Given the description of an element on the screen output the (x, y) to click on. 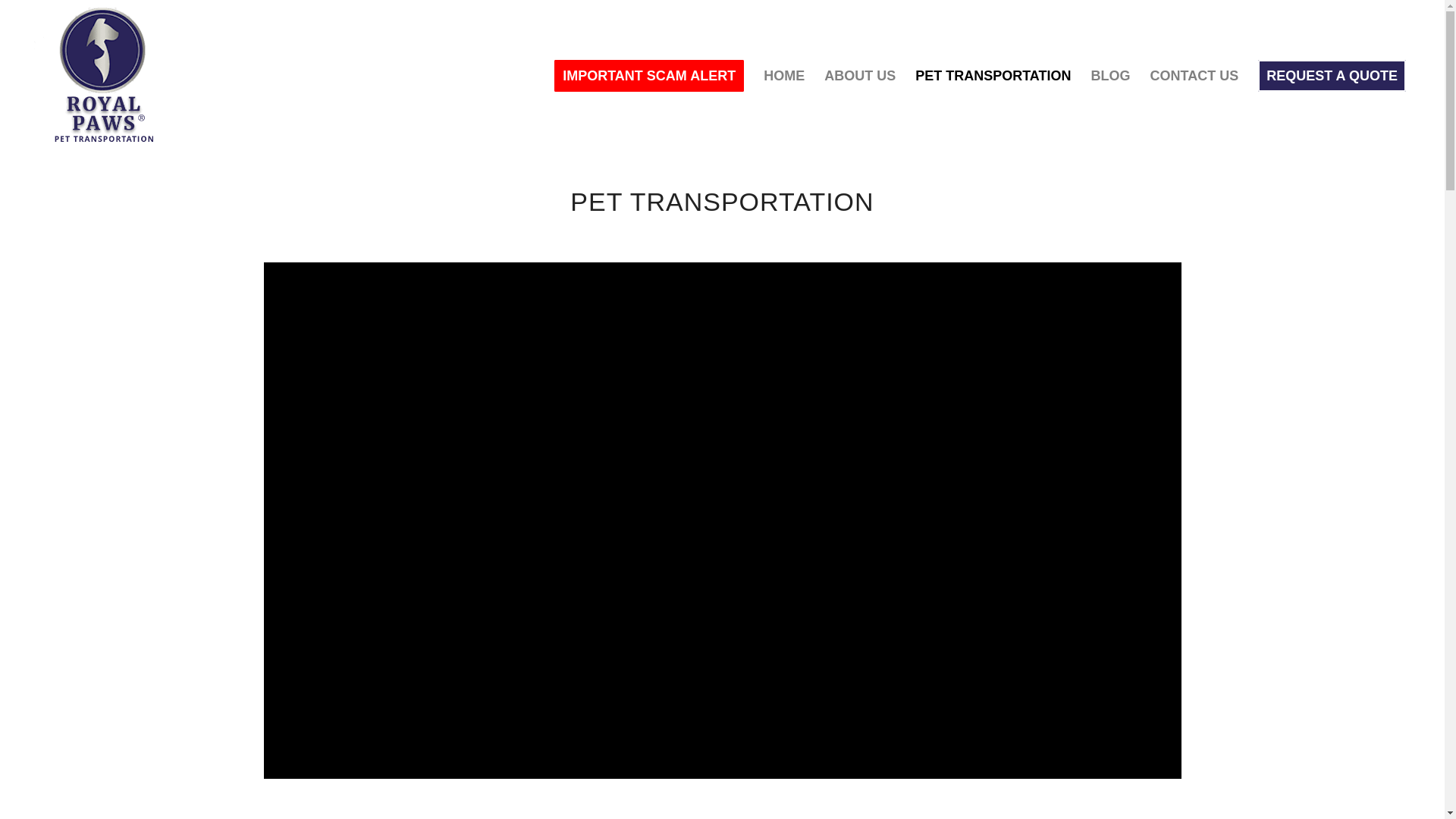
IMPORTANT SCAM ALERT (649, 75)
REQUEST A QUOTE (1331, 75)
PET TRANSPORTATION (992, 75)
